Given the description of an element on the screen output the (x, y) to click on. 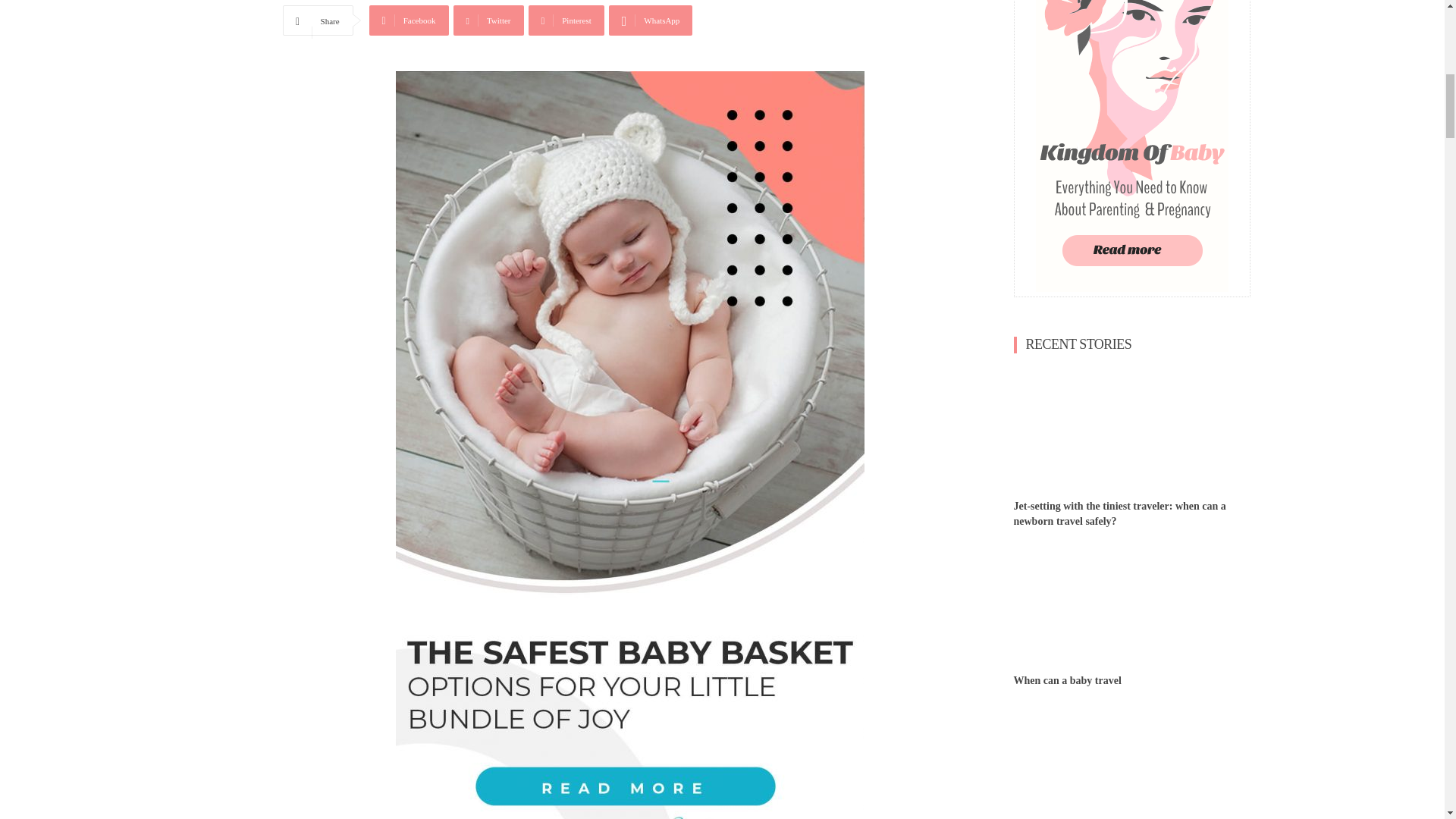
Twitter (488, 20)
Facebook (408, 20)
WhatsApp (650, 20)
Pinterest (565, 20)
